Given the description of an element on the screen output the (x, y) to click on. 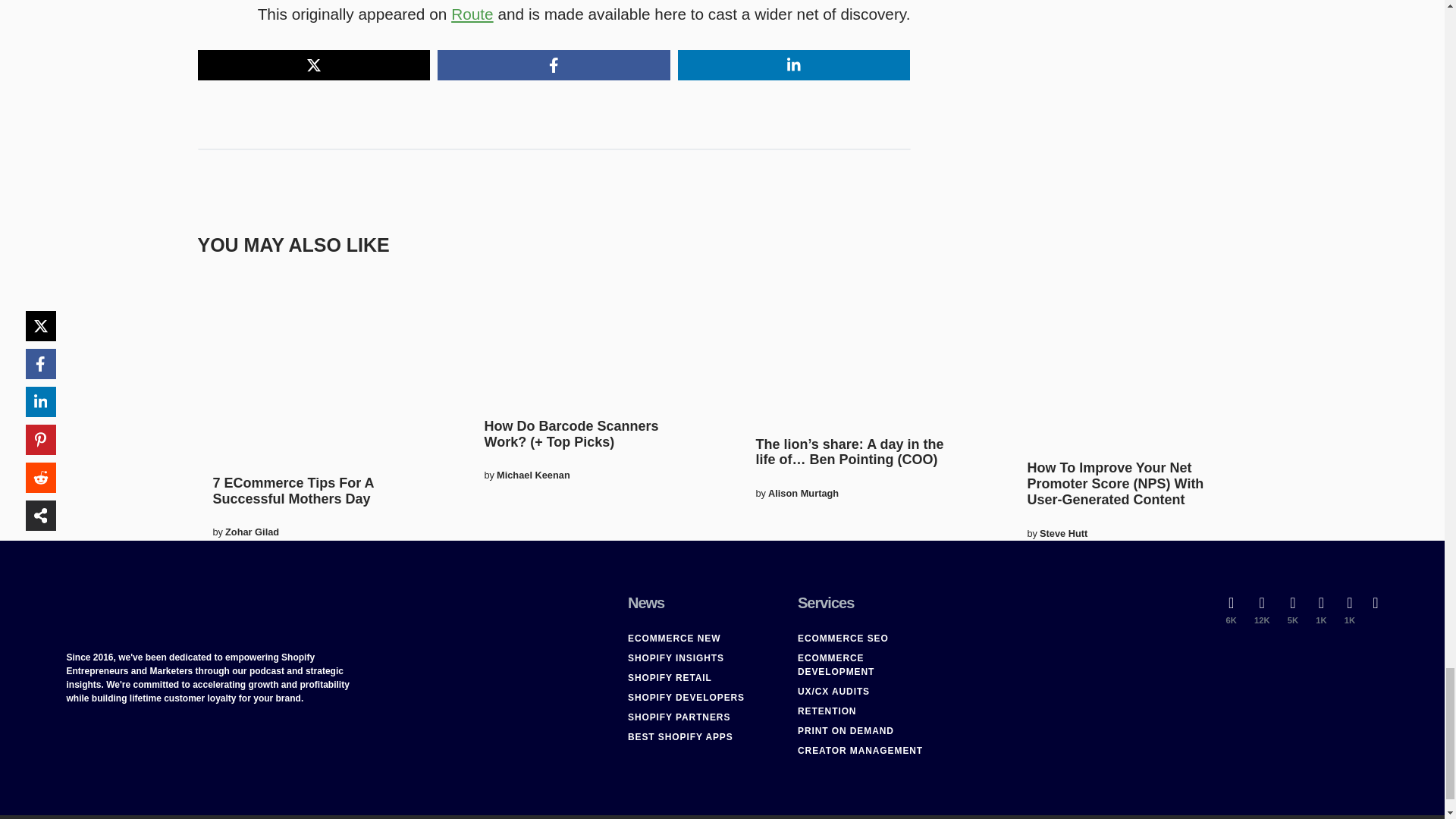
View all posts by Alison Murtagh (803, 493)
View all posts by Zohar Gilad (252, 531)
View all posts by Michael Keenan (533, 474)
